Given the description of an element on the screen output the (x, y) to click on. 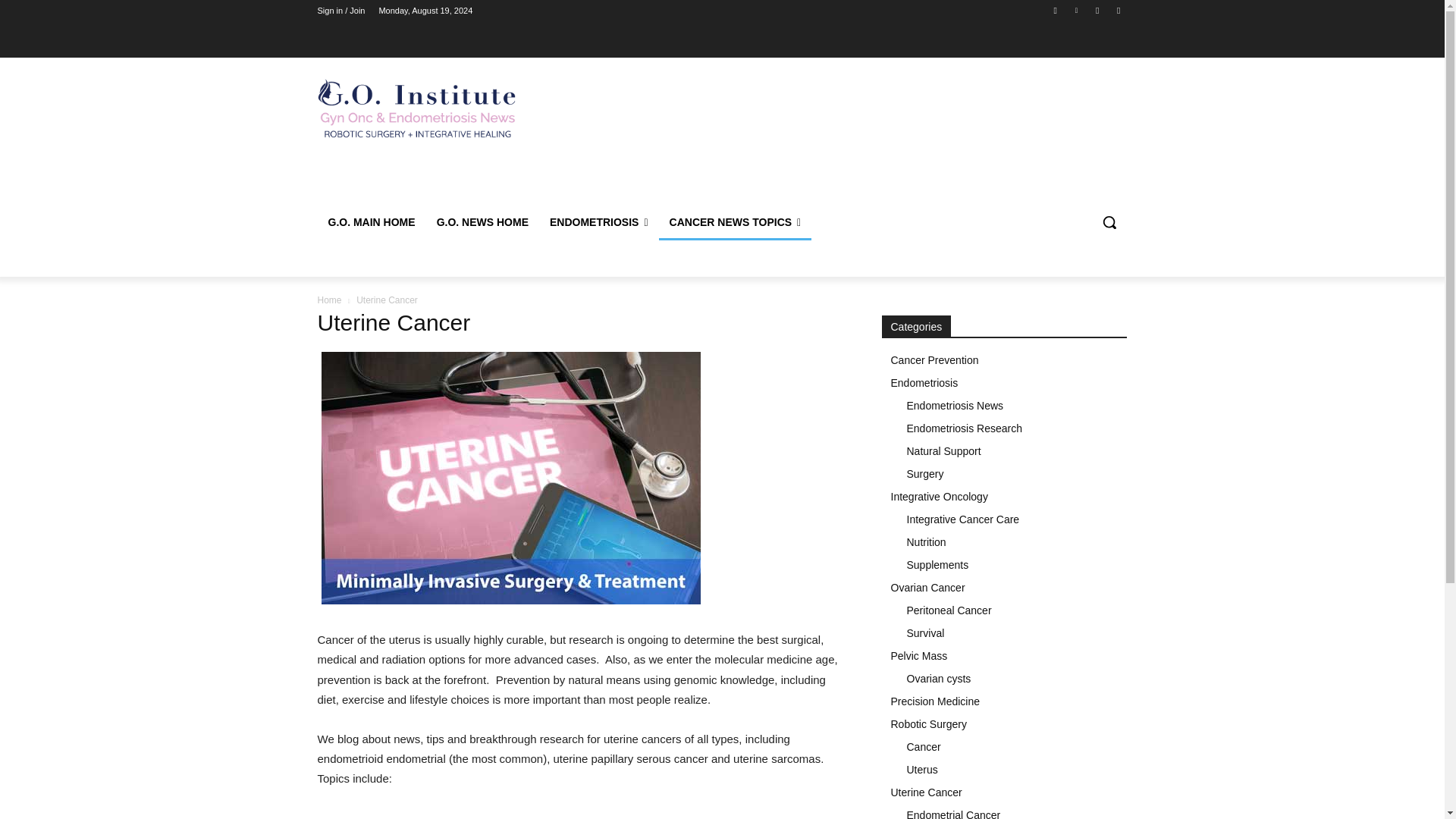
Linkedin (1075, 9)
Uterine Cancer (510, 478)
G.O. MAIN HOME (371, 221)
Twitter (1097, 9)
Facebook (1055, 9)
Youtube (1117, 9)
